Given the description of an element on the screen output the (x, y) to click on. 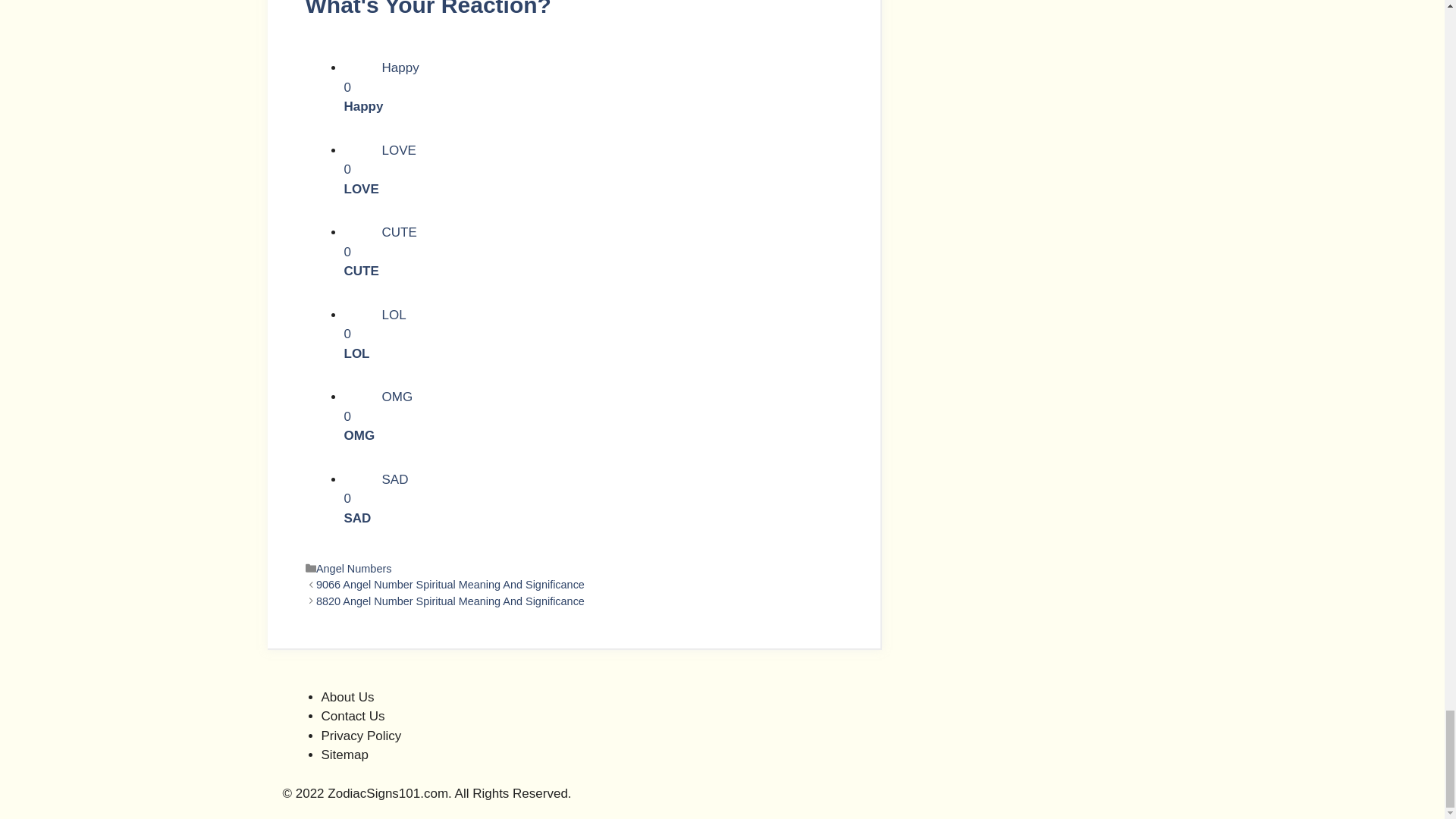
Angel Numbers (593, 335)
8820 Angel Number Spiritual Meaning And Significance (593, 253)
9066 Angel Number Spiritual Meaning And Significance (353, 568)
